Given the description of an element on the screen output the (x, y) to click on. 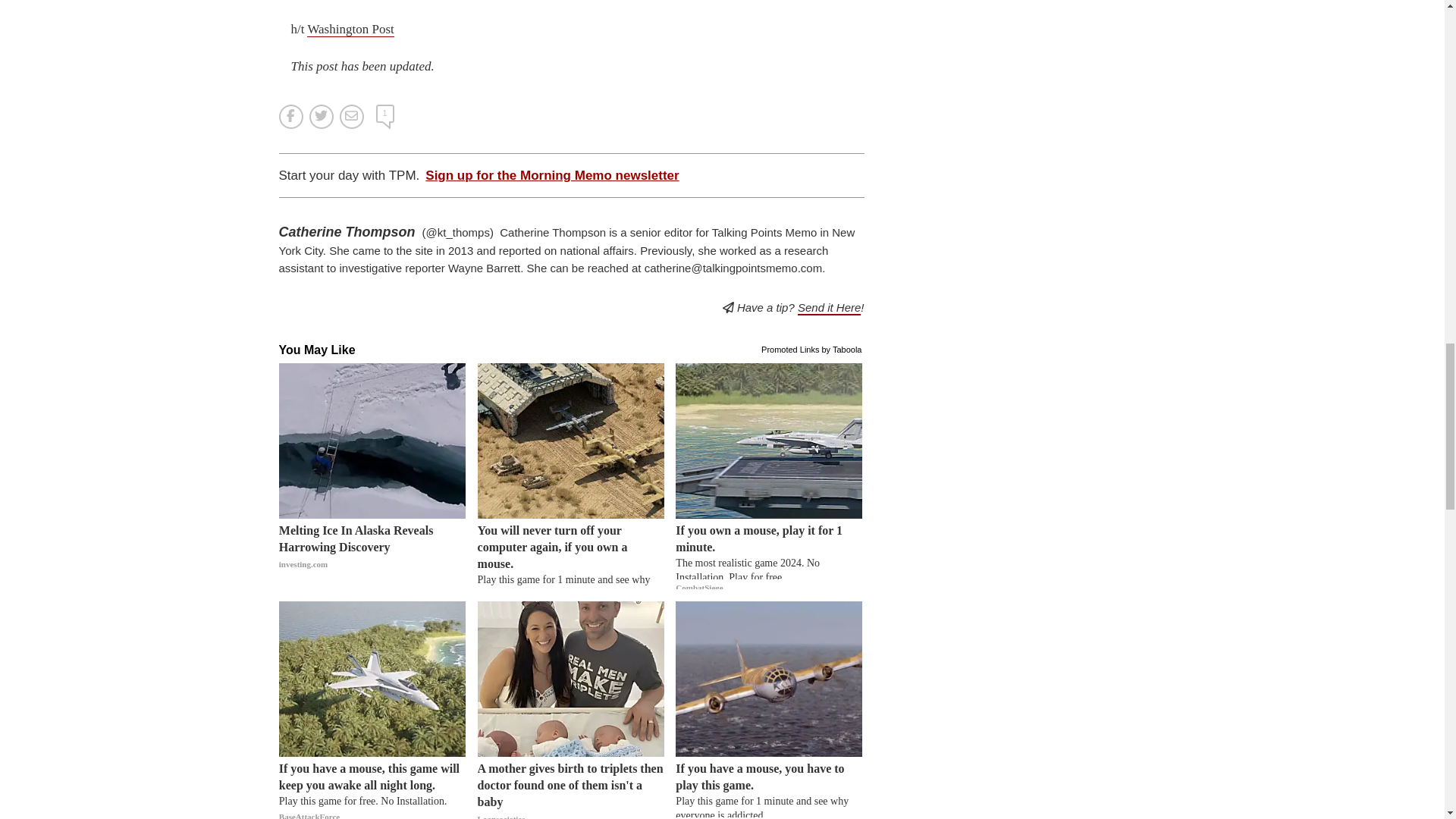
If you own a mouse, play it for 1 minute. (768, 555)
Melting Ice In Alaska Reveals Harrowing Discovery (372, 555)
